Given the description of an element on the screen output the (x, y) to click on. 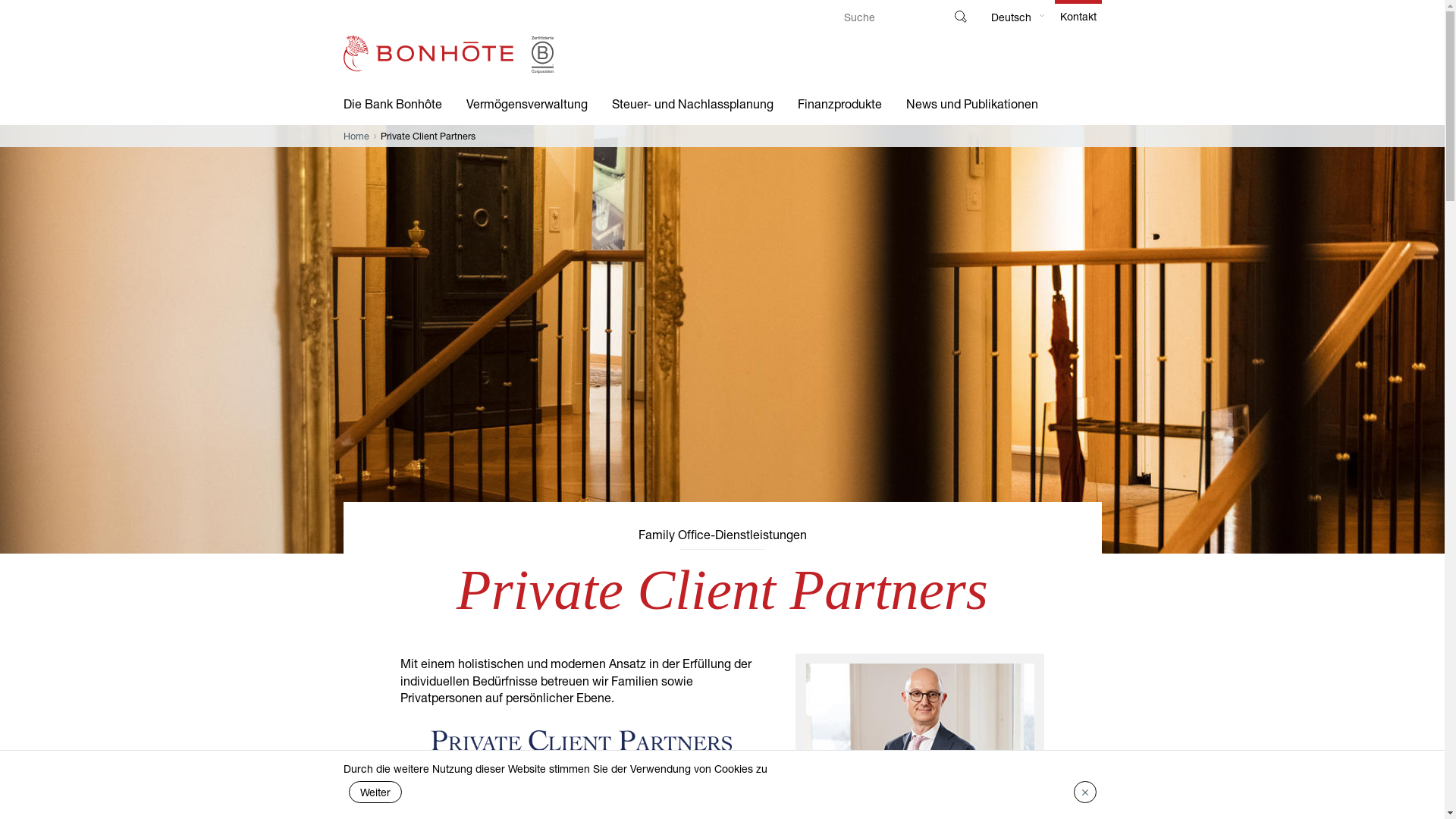
Weiter Element type: text (374, 792)
Deutsch Element type: text (1010, 16)
Agree Element type: text (1084, 792)
Rechercher Element type: text (959, 16)
Home Element type: text (355, 135)
Enter the terms you wish to search for. Element type: hover (888, 17)
News und Publikationen Element type: text (971, 103)
Steuer- und Nachlassplanung Element type: text (691, 103)
Kontakt Element type: text (1077, 14)
Finanzprodukte Element type: text (839, 103)
